Given the description of an element on the screen output the (x, y) to click on. 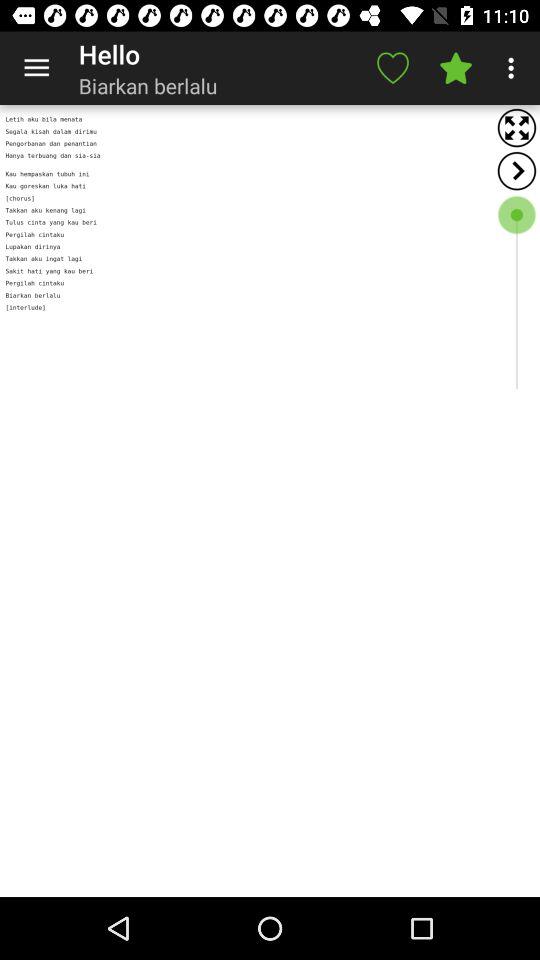
go to back button (516, 170)
